Given the description of an element on the screen output the (x, y) to click on. 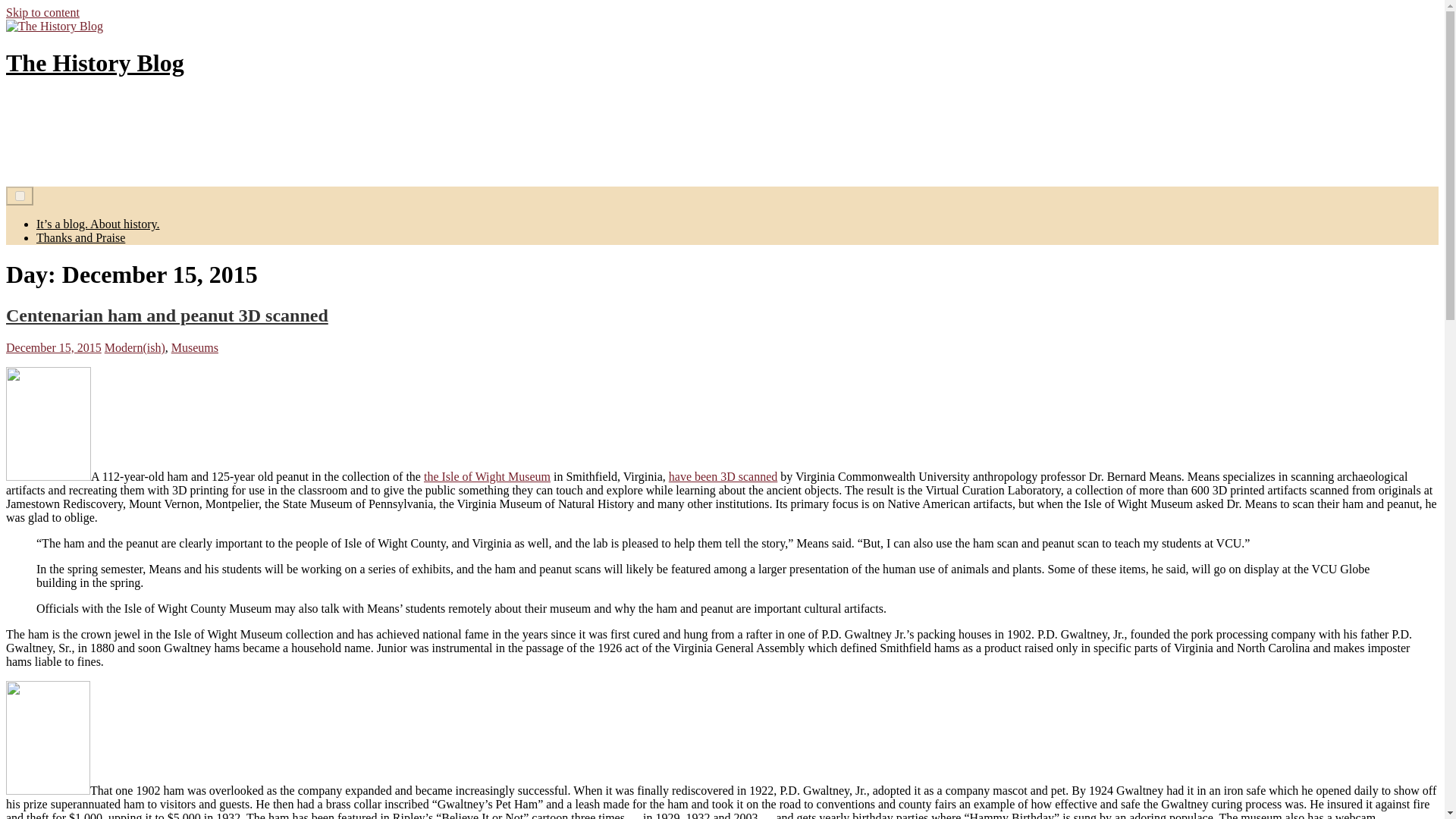
Centenarian ham and peanut 3D scanned (167, 315)
The History Blog (94, 62)
Museums (194, 347)
have been 3D scanned (722, 476)
December 15, 2015 (53, 347)
on (19, 195)
the Isle of Wight Museum (486, 476)
Thanks and Praise (80, 237)
Skip to content (42, 11)
